Given the description of an element on the screen output the (x, y) to click on. 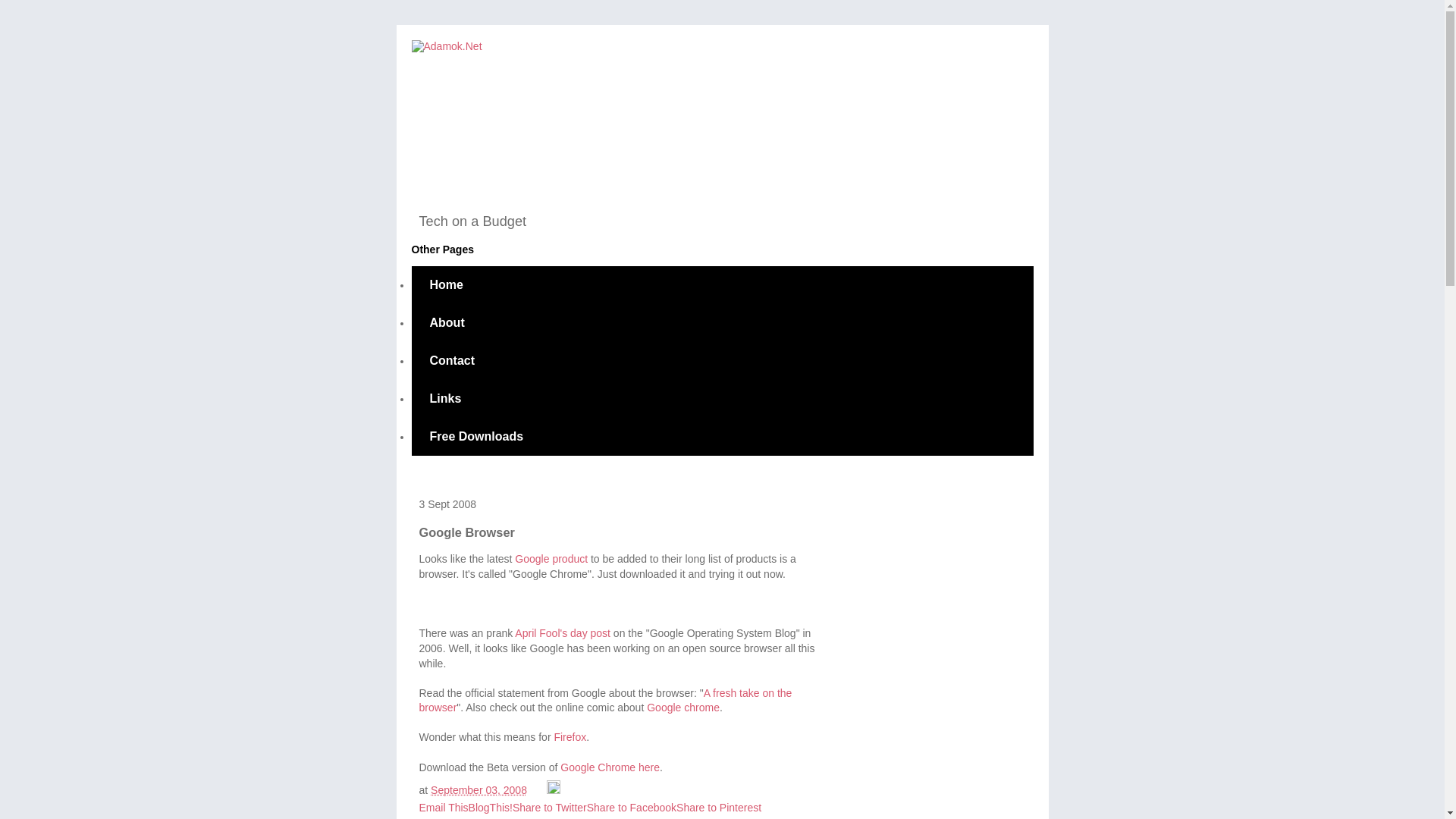
Share to Pinterest (719, 807)
Google product (551, 558)
Edit Post (553, 789)
permanent link (478, 789)
Google chrome (682, 707)
Home (445, 284)
Email This (443, 807)
Share to Twitter (549, 807)
Email Post (538, 789)
